Given the description of an element on the screen output the (x, y) to click on. 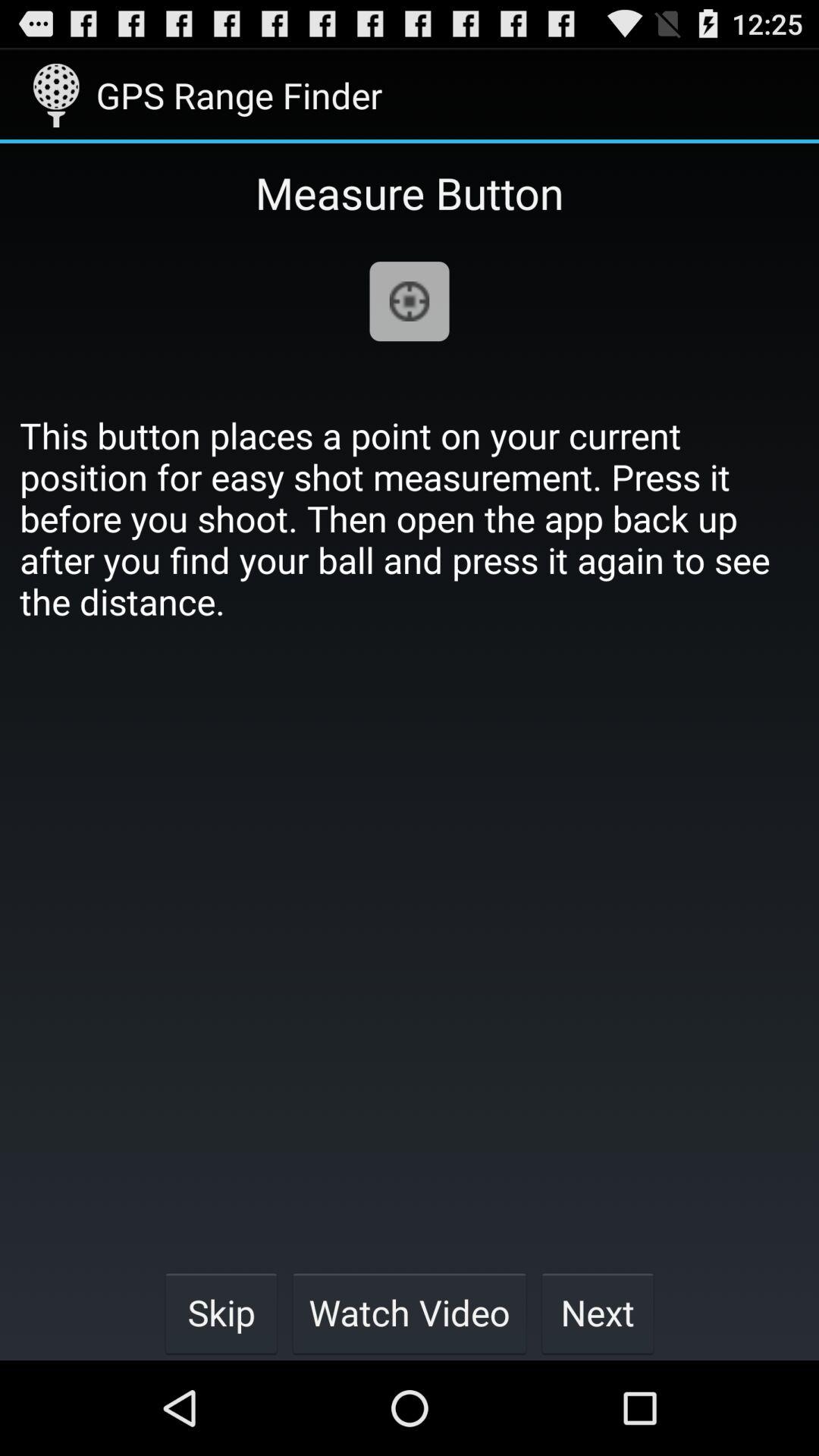
select next item (597, 1312)
